Given the description of an element on the screen output the (x, y) to click on. 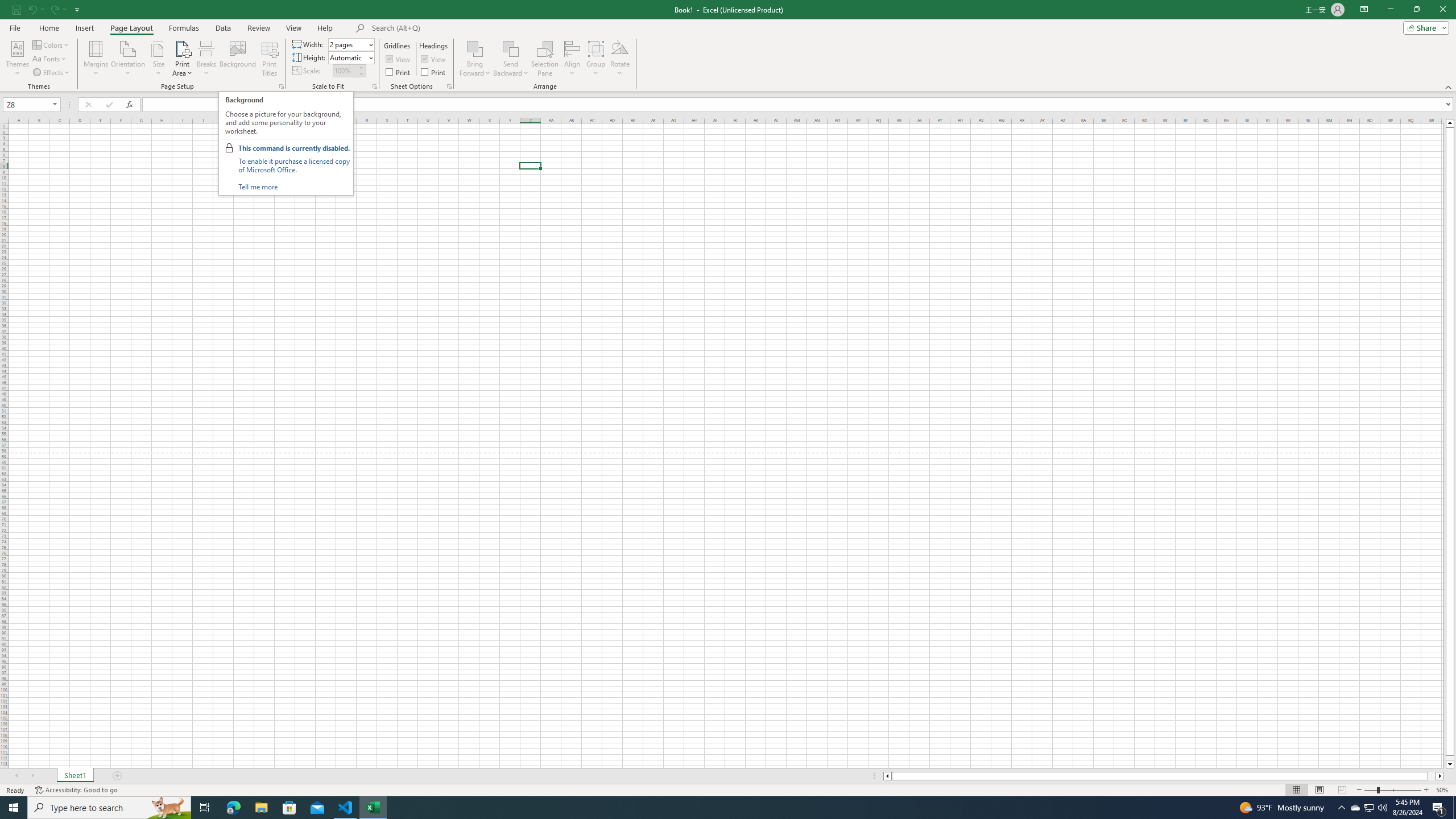
Orientation (128, 58)
This command is currently disabled. (293, 148)
Colors (51, 44)
Send Backward (510, 48)
Effects (51, 72)
